Given the description of an element on the screen output the (x, y) to click on. 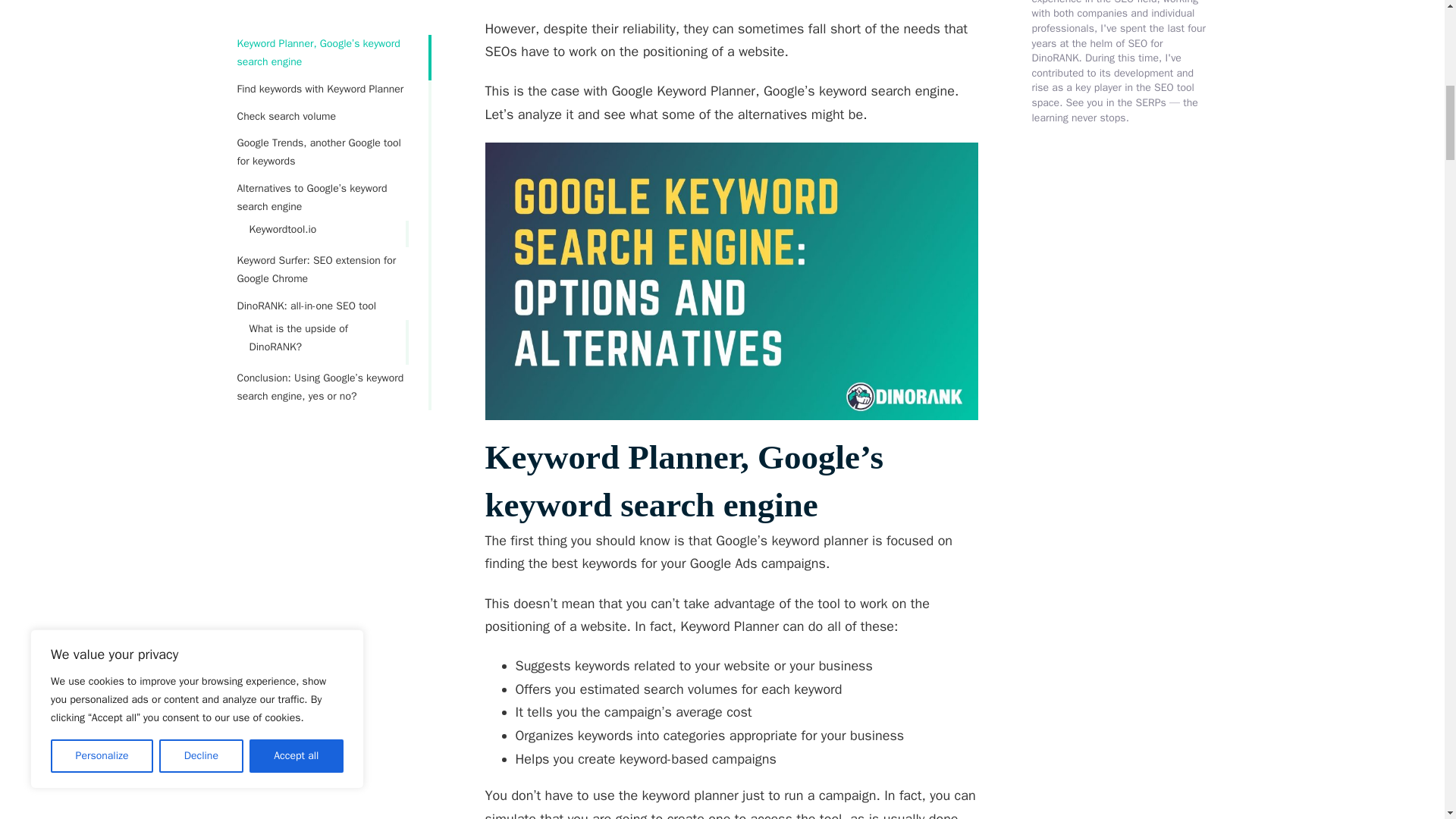
Keywordtool.io (310, 130)
Google Trends, another Google tool for keywords (321, 53)
What is the upside of DinoRANK? (310, 238)
Check search volume (321, 17)
Keyword Surfer: SEO extension for Google Chrome (321, 170)
DinoRANK: all-in-one SEO tool (321, 207)
